Given the description of an element on the screen output the (x, y) to click on. 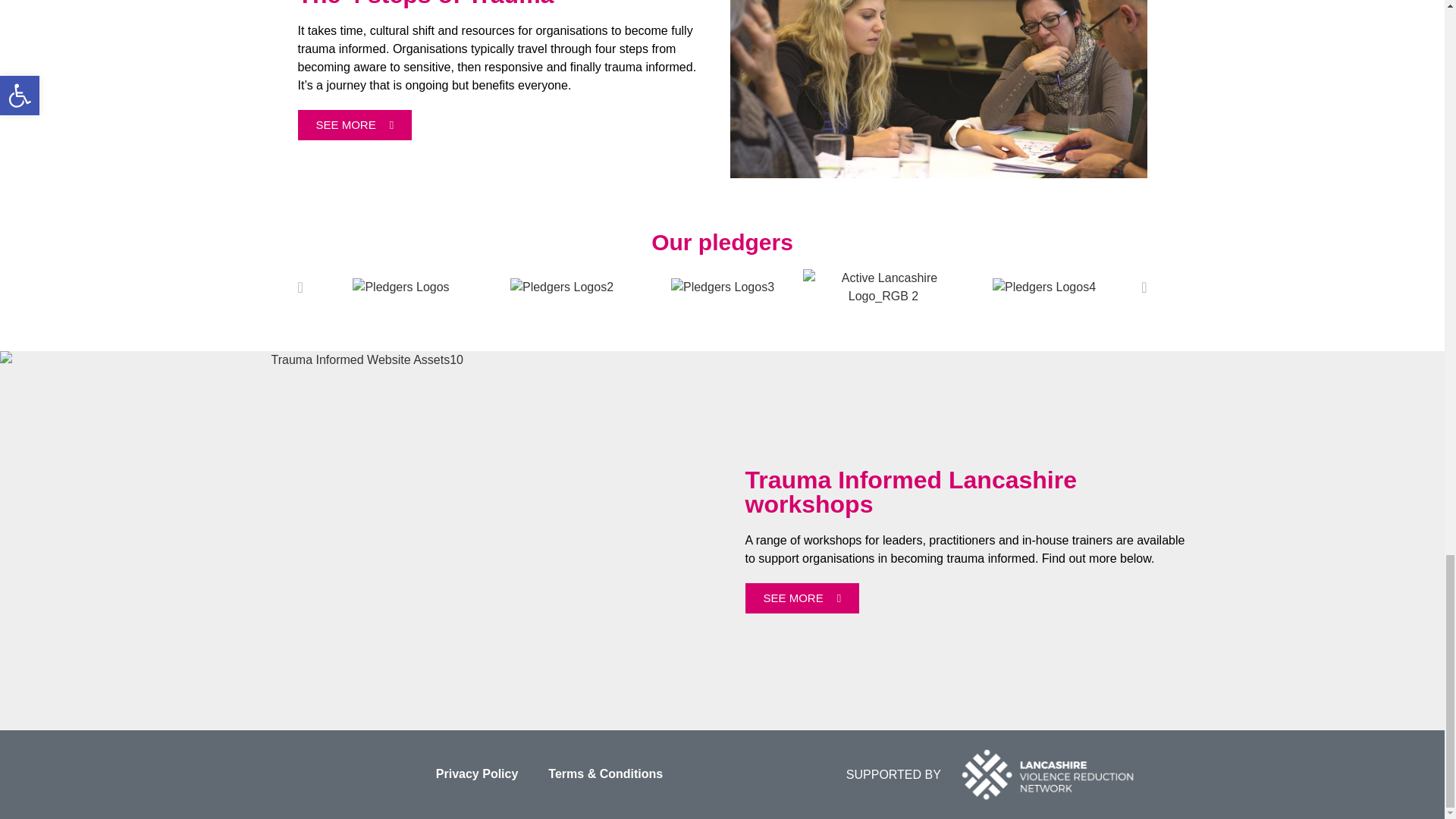
SEE MORE (801, 598)
Privacy Policy (477, 773)
SEE MORE (354, 124)
